Given the description of an element on the screen output the (x, y) to click on. 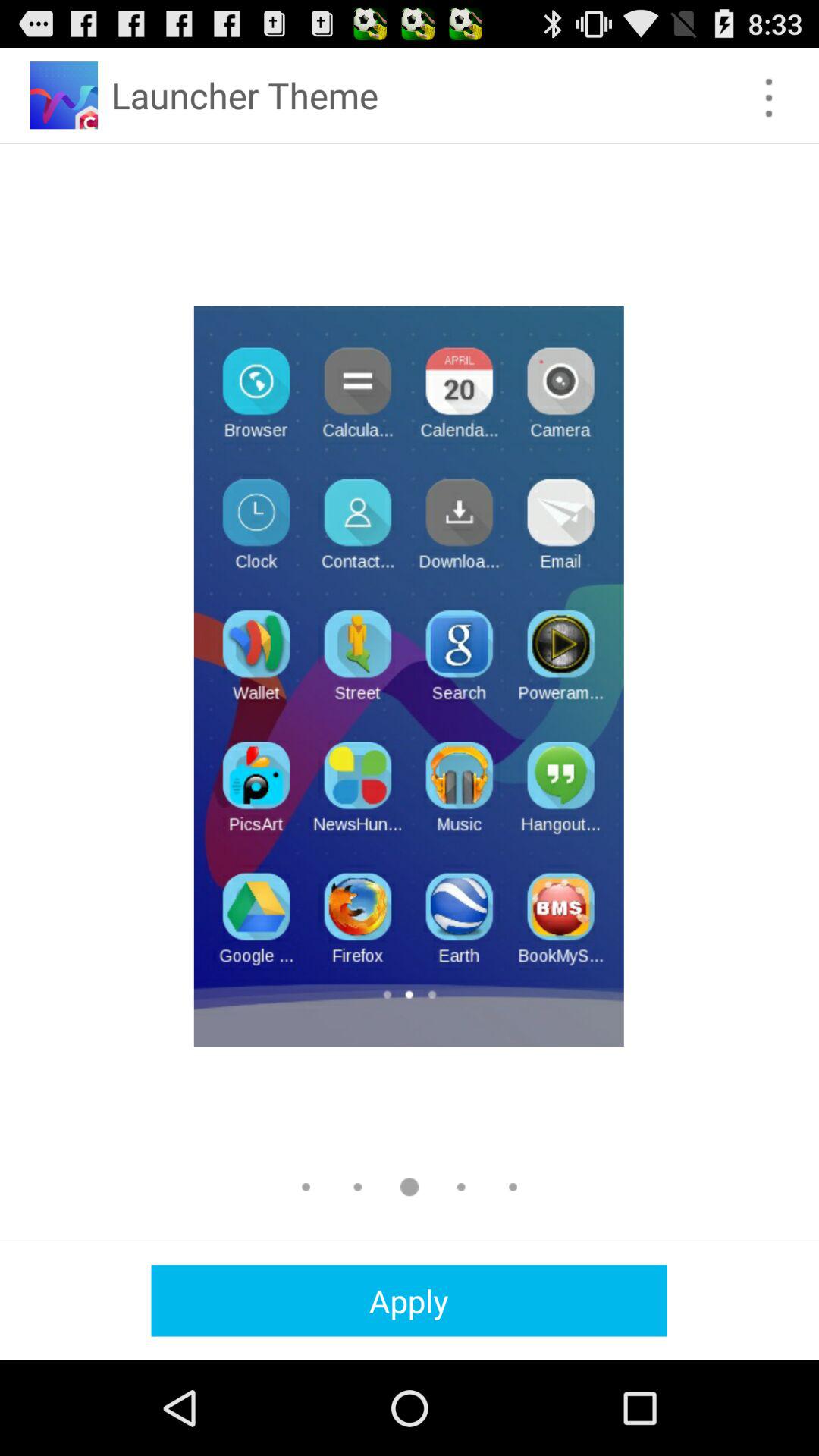
click the apply icon (409, 1300)
